Given the description of an element on the screen output the (x, y) to click on. 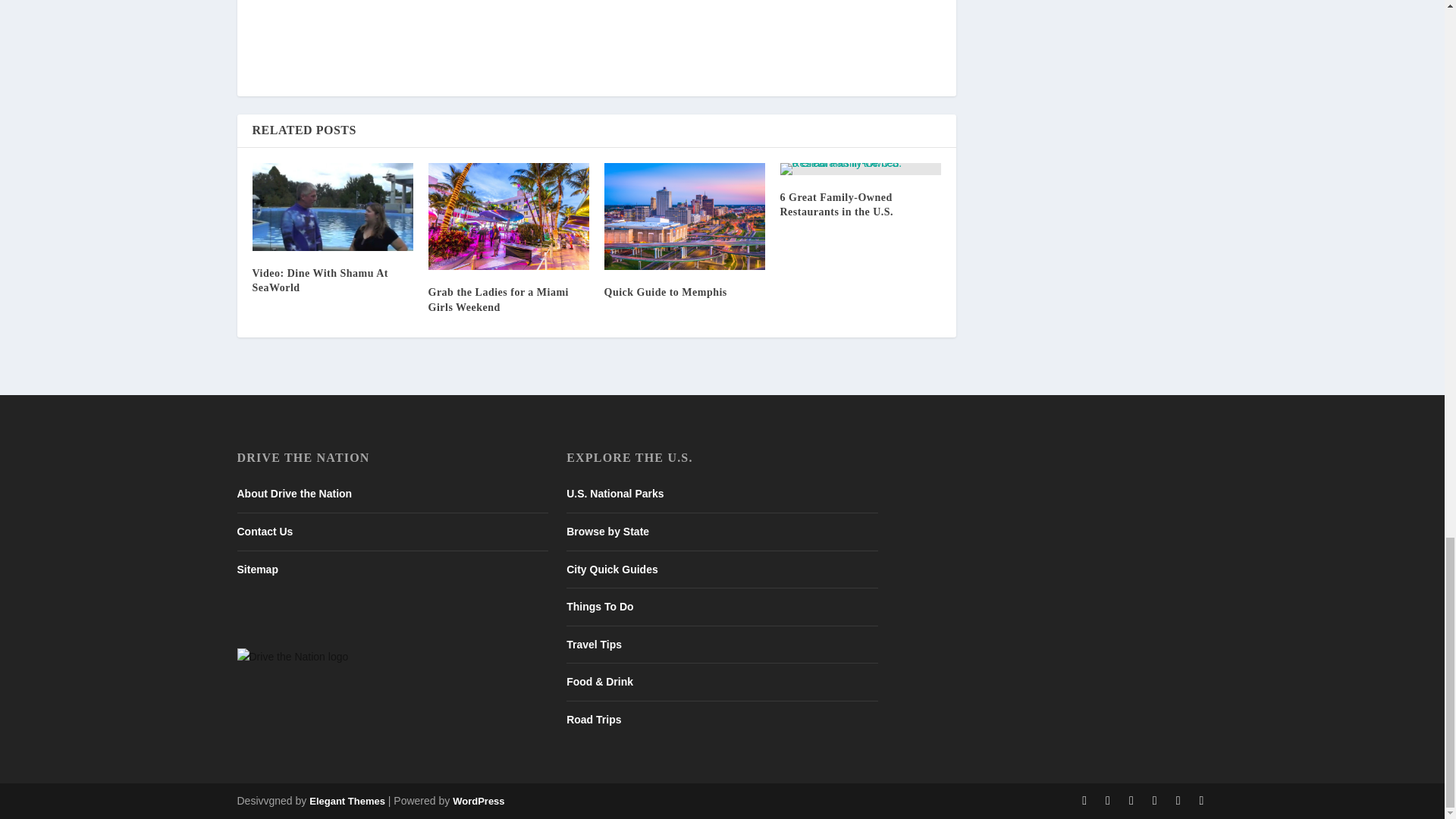
Quick Guide to Memphis (684, 216)
Grab the Ladies for a Miami Girls Weekend (508, 216)
6 Great Family-Owned Restaurants in the U.S. (859, 168)
Video: Dine With Shamu At SeaWorld (331, 206)
